Given the description of an element on the screen output the (x, y) to click on. 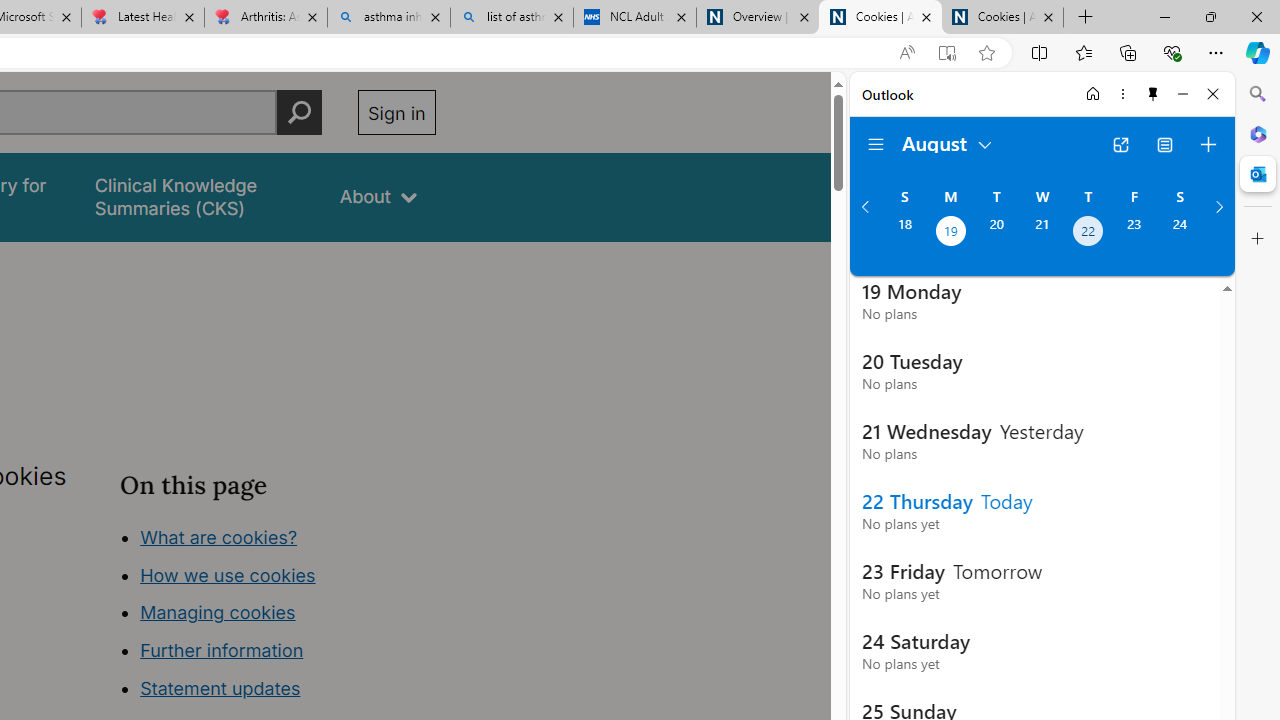
Folder navigation (876, 144)
August (948, 141)
Friday, August 23, 2024.  (1134, 233)
Thursday, August 22, 2024. Today.  (1088, 233)
Managing cookies (217, 612)
Arthritis: Ask Health Professionals (265, 17)
Wednesday, August 21, 2024.  (1042, 233)
Create event (1208, 144)
list of asthma inhalers uk - Search (511, 17)
